Given the description of an element on the screen output the (x, y) to click on. 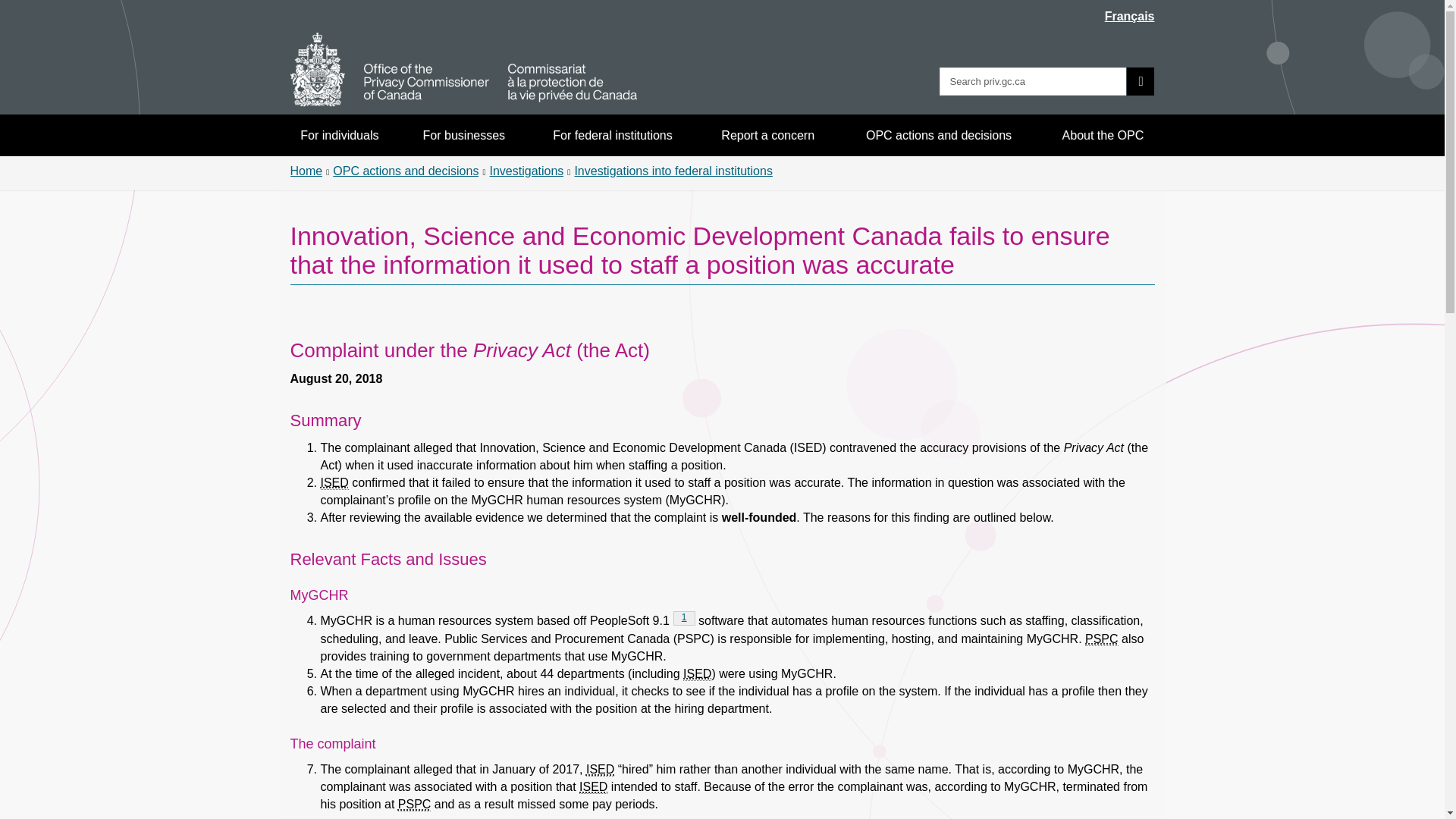
Investigations (526, 170)
Innovation, Science and Economic Development (333, 482)
For businesses (463, 135)
OPC actions and decisions (939, 135)
Search (1140, 81)
For federal institutions (683, 617)
Public Services and Procurement Canada (612, 135)
Public Services and Procurement Canada (1101, 639)
OPC actions and decisions (413, 804)
Office of the Privacy Commissioner of Canada (406, 170)
For individuals (463, 69)
About the OPC (340, 135)
Innovation, Science and Economic Development (1102, 135)
Skip to main content (600, 769)
